Given the description of an element on the screen output the (x, y) to click on. 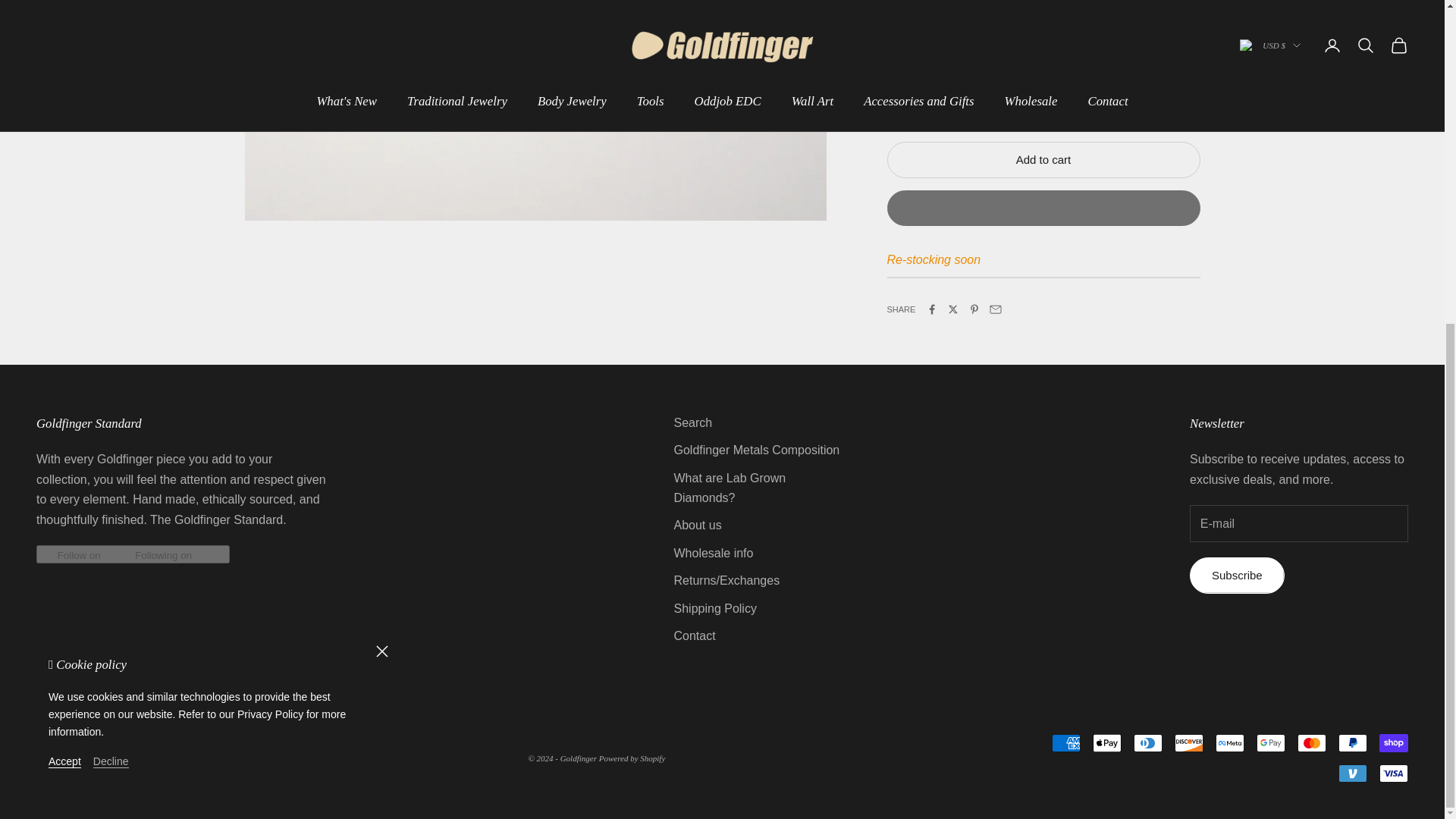
1 (935, 100)
